Given the description of an element on the screen output the (x, y) to click on. 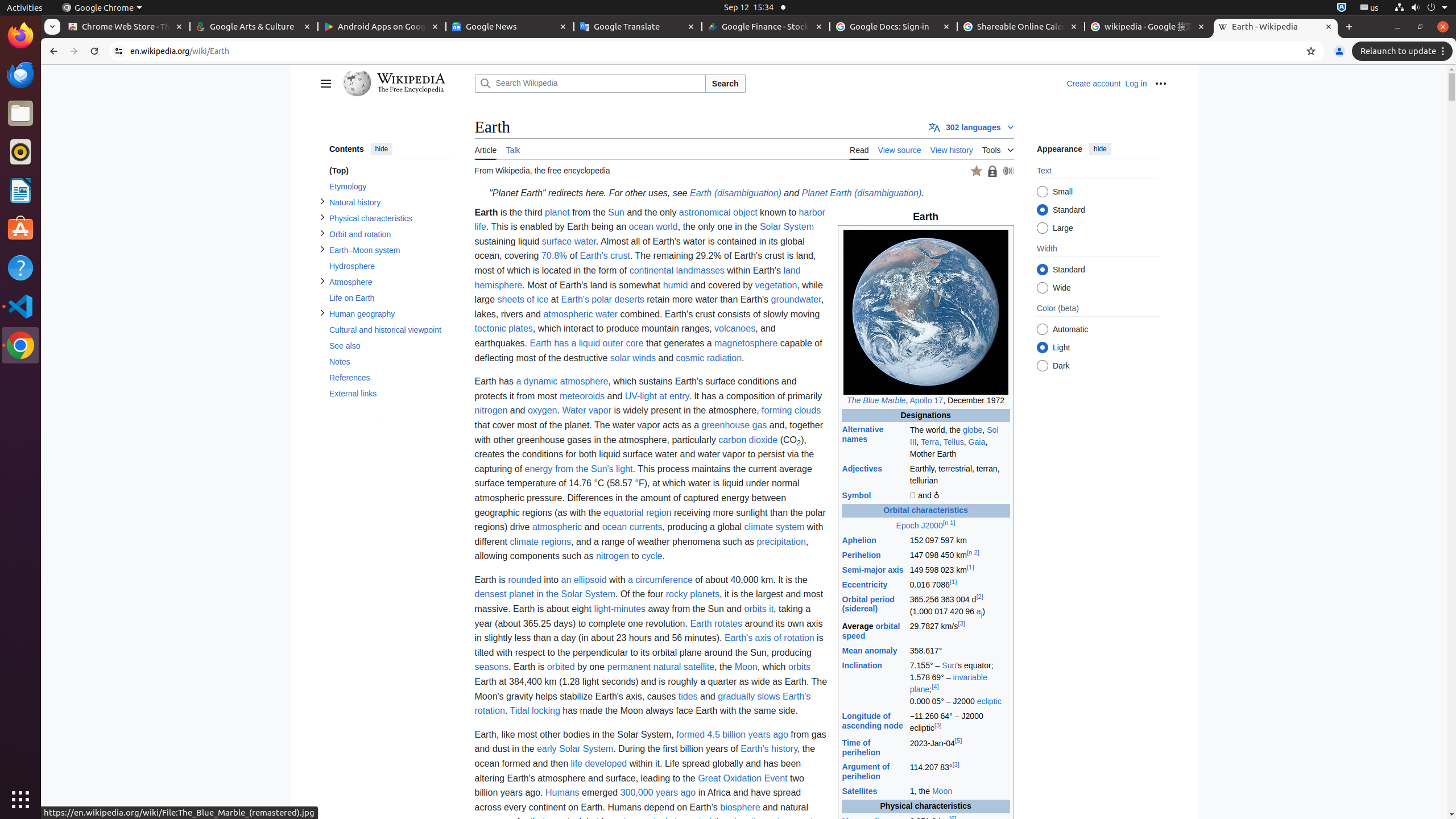
Great Oxidation Event Element type: link (742, 777)
Gaia Element type: link (976, 441)
Google Arts & Culture - Memory usage - 122 MB Element type: page-tab (253, 26)
You Element type: push-button (1339, 50)
Search Element type: push-button (724, 83)
